Given the description of an element on the screen output the (x, y) to click on. 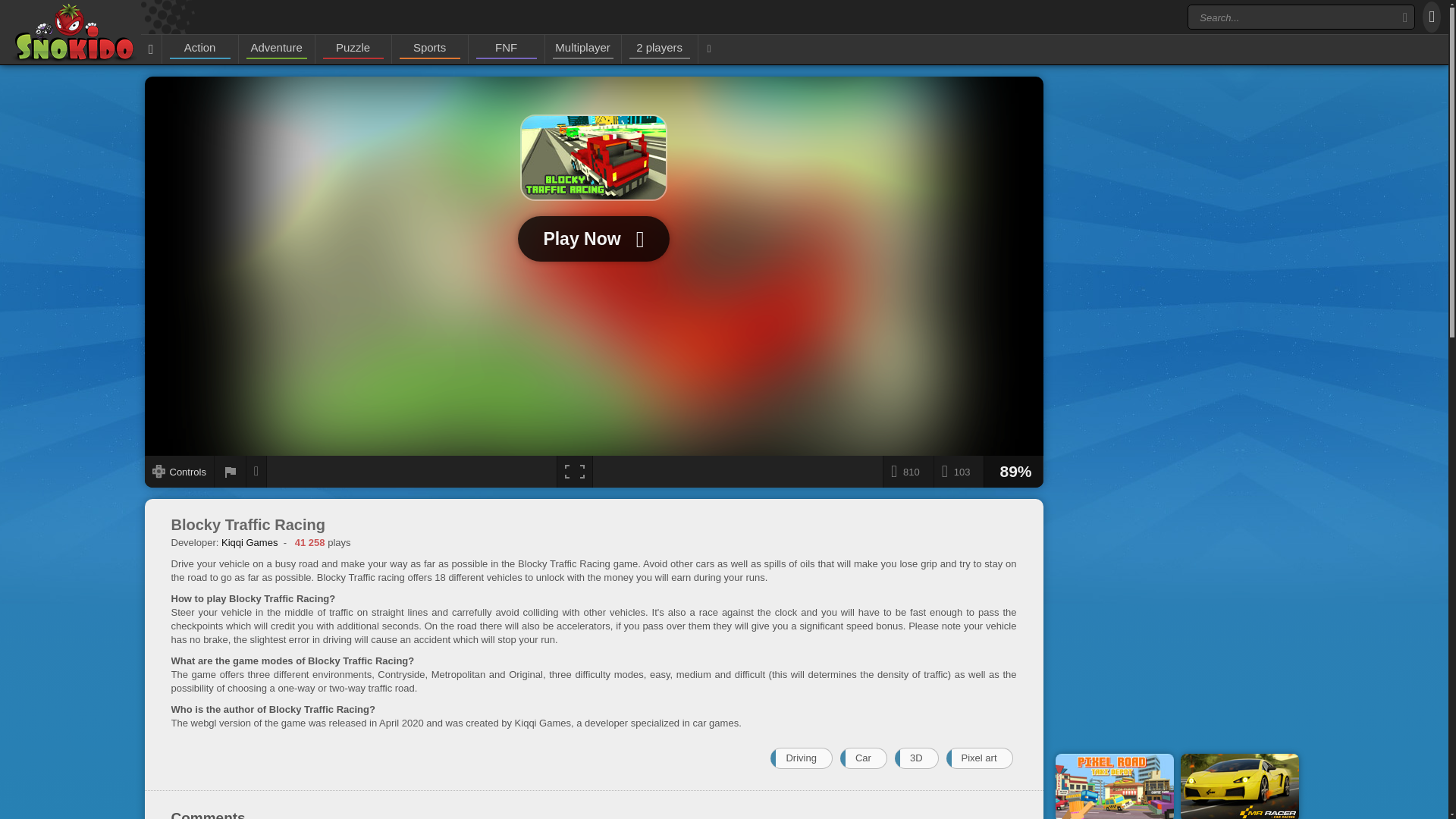
Car (863, 758)
Adventure (276, 47)
FNF (506, 47)
103 (958, 471)
Multiplayer (582, 47)
810 (907, 471)
Controls (179, 471)
Pixel art (979, 758)
Driving (800, 758)
3D (917, 758)
Action (200, 47)
Puzzle (353, 47)
2 players (659, 47)
Sports (429, 47)
